Given the description of an element on the screen output the (x, y) to click on. 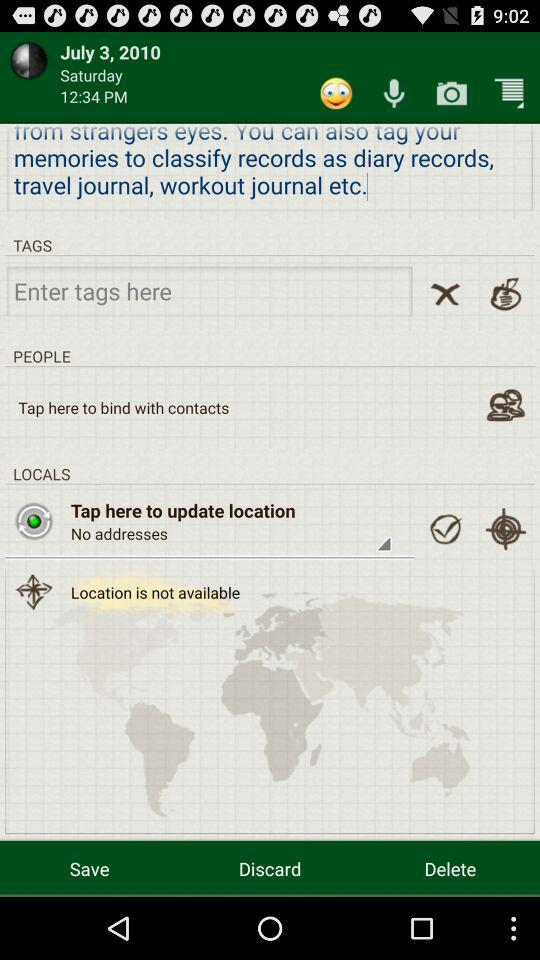
choose the icon to the left of the tap here to item (34, 521)
